Given the description of an element on the screen output the (x, y) to click on. 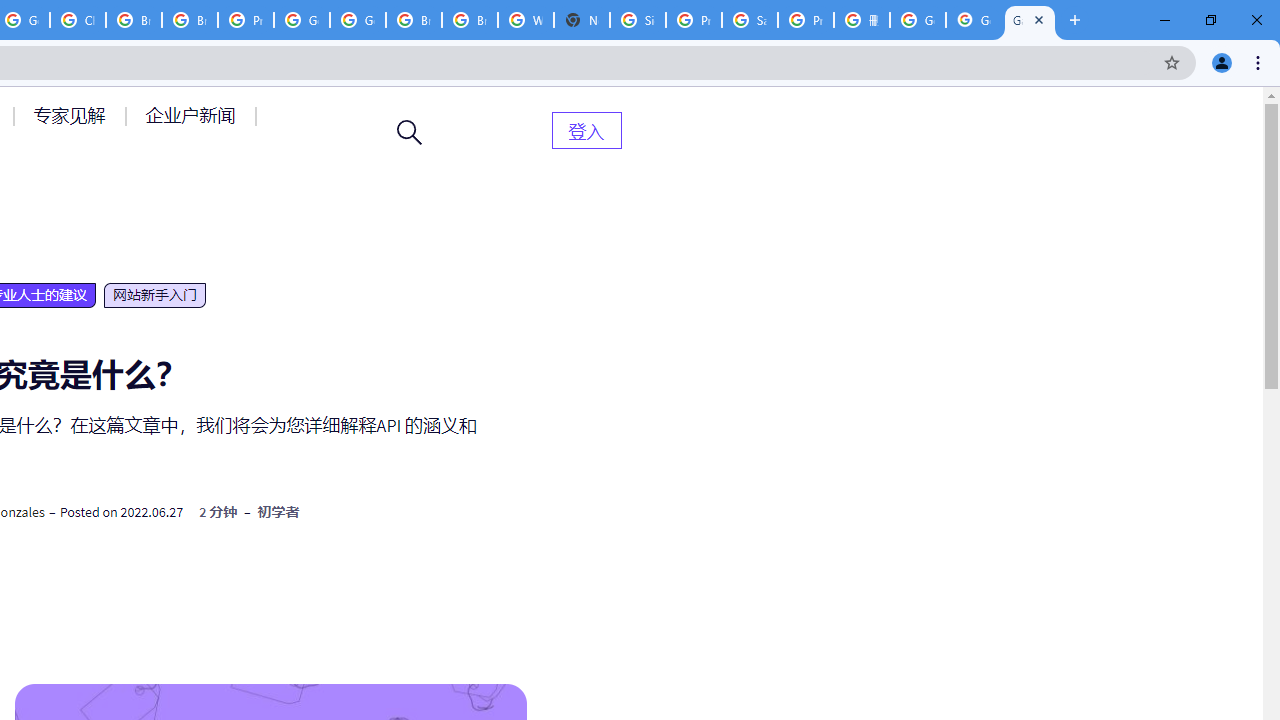
AutomationID: menu-item-77764 (72, 115)
Browse Chrome as a guest - Computer - Google Chrome Help (134, 20)
New Tab (582, 20)
Sign in - Google Accounts (637, 20)
Open search form (410, 132)
Browse Chrome as a guest - Computer - Google Chrome Help (413, 20)
